Given the description of an element on the screen output the (x, y) to click on. 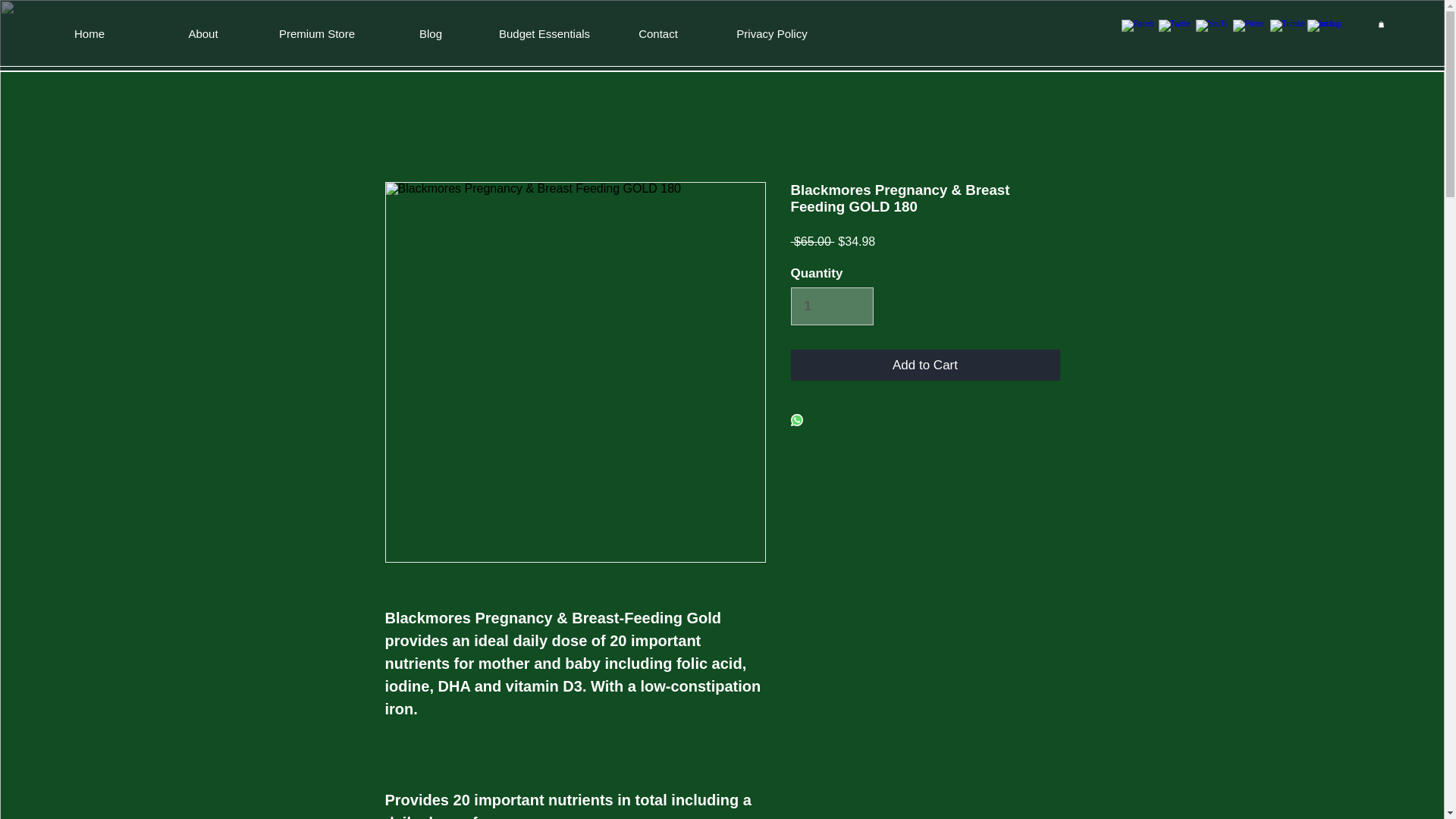
Premium Store (317, 34)
Add to Cart (924, 365)
Contact (657, 34)
1 (831, 305)
Home (89, 34)
About (203, 34)
Blog (430, 34)
Budget Essentials (544, 34)
Privacy Policy (771, 34)
